Given the description of an element on the screen output the (x, y) to click on. 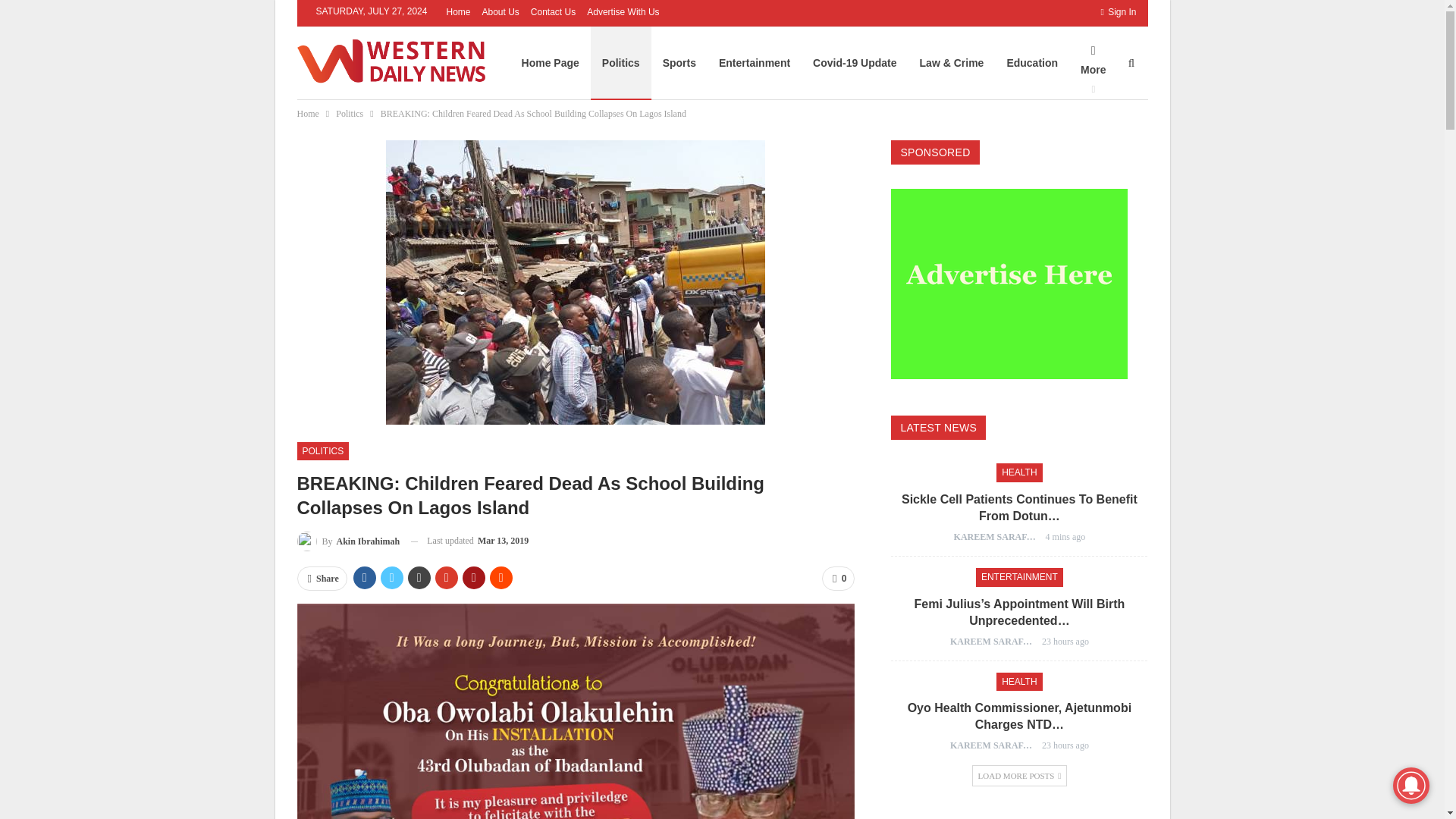
Contact Us (553, 11)
Browse Author Articles (348, 540)
Home (307, 113)
About Us (499, 11)
By Akin Ibrahimah (348, 540)
Entertainment (754, 62)
POLITICS (323, 451)
Education (1031, 62)
Politics (349, 113)
0 (839, 578)
Covid-19 Update (854, 62)
Sign In (1117, 12)
Advertise With Us (622, 11)
Home (457, 11)
Home Page (551, 62)
